Given the description of an element on the screen output the (x, y) to click on. 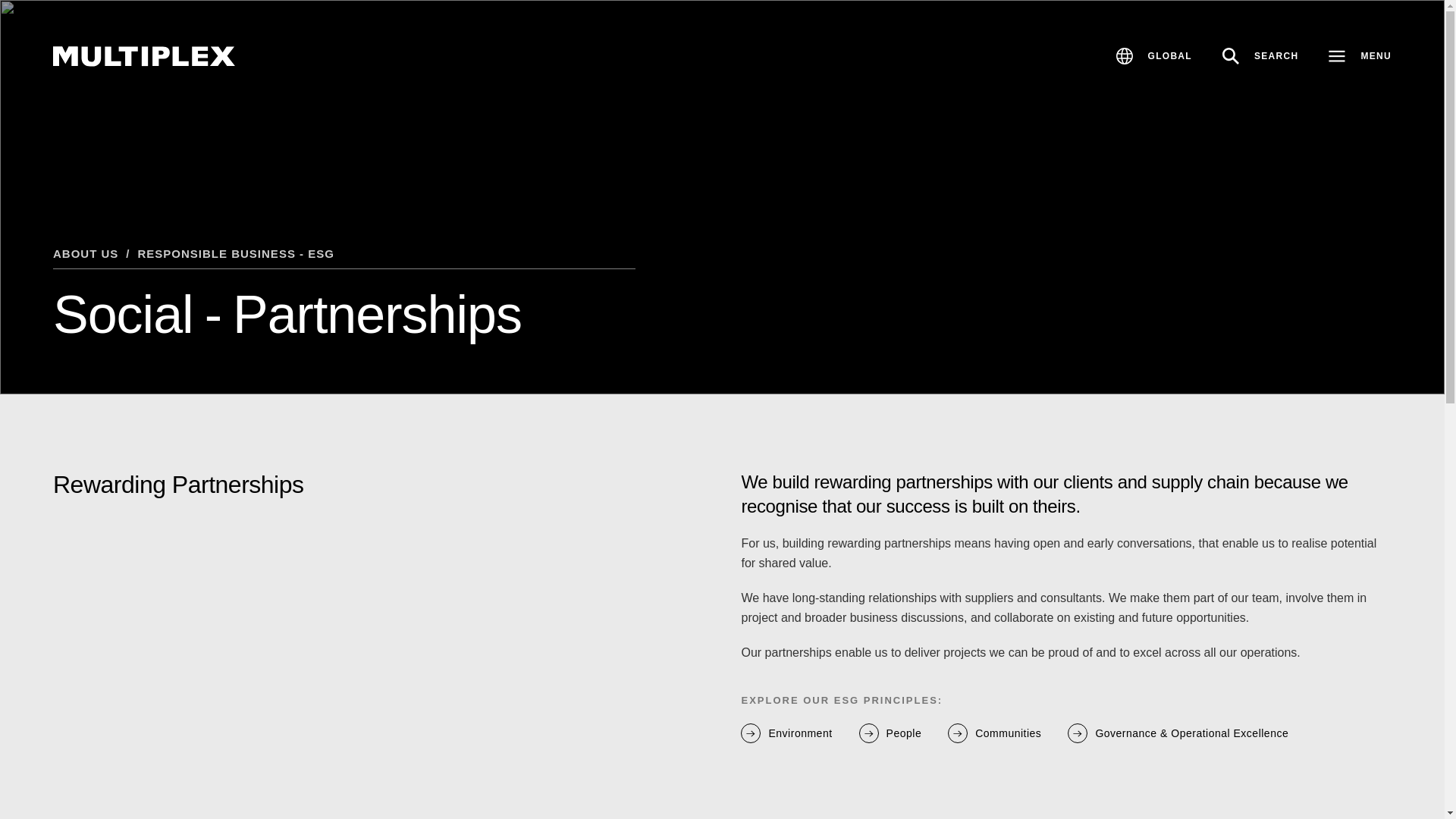
Multiplex - Link to Homepage (143, 55)
GLOBAL (1153, 55)
MENU (1352, 55)
SEARCH (1260, 55)
